Given the description of an element on the screen output the (x, y) to click on. 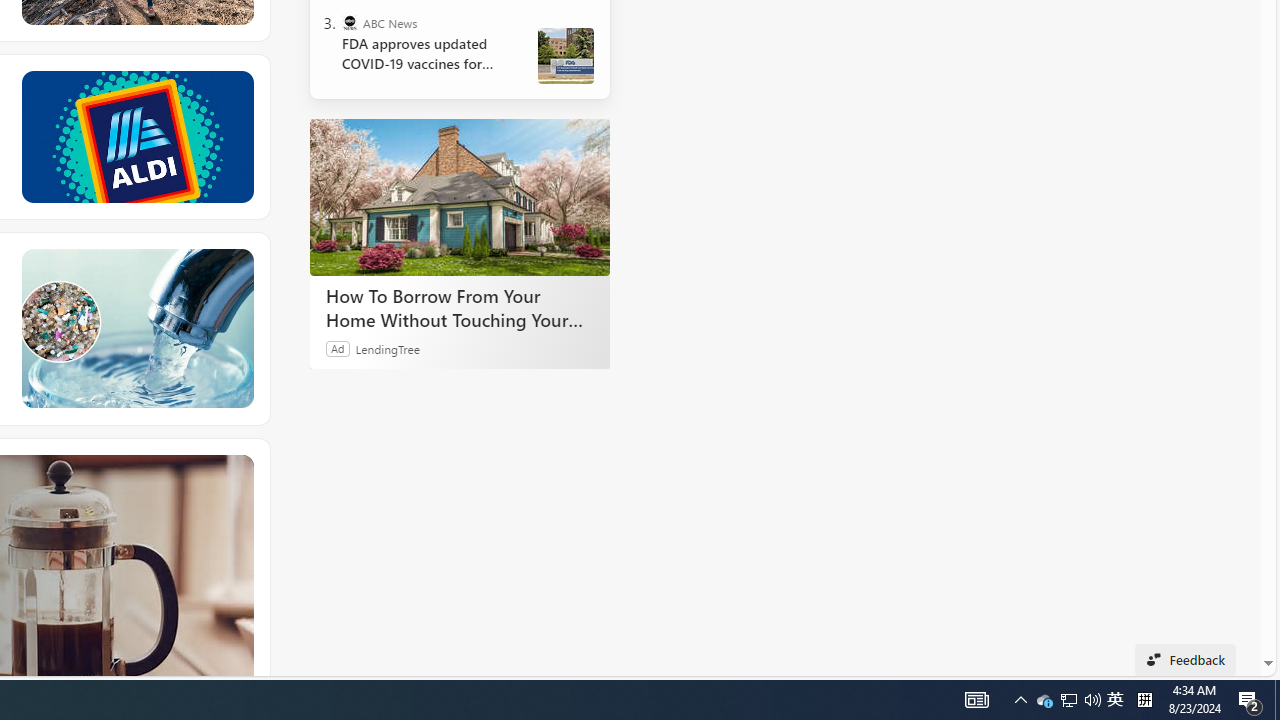
LendingTree (387, 348)
ABC News (349, 22)
